Given the description of an element on the screen output the (x, y) to click on. 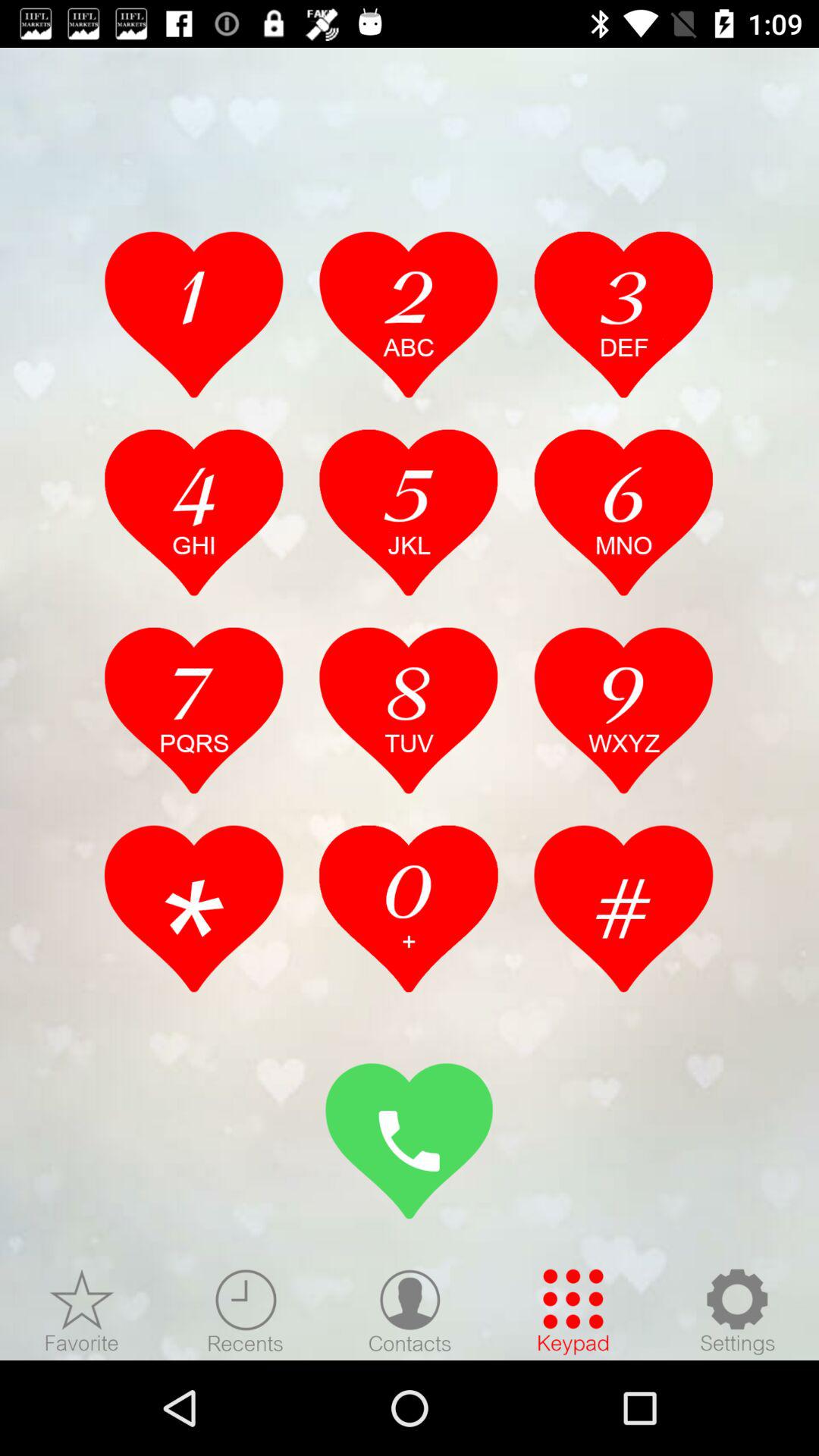
4 ghi (194, 512)
